Given the description of an element on the screen output the (x, y) to click on. 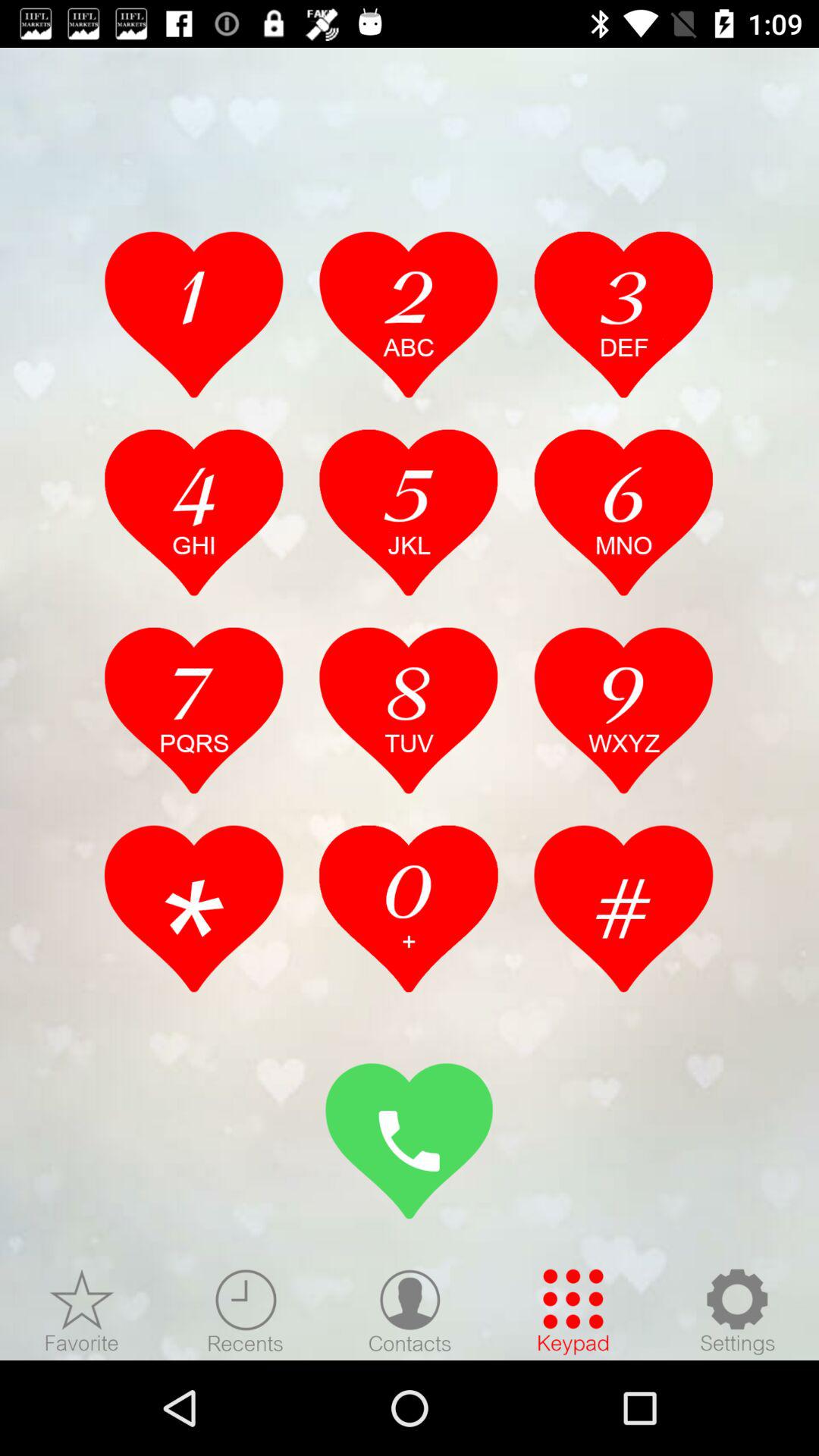
4 ghi (194, 512)
